Given the description of an element on the screen output the (x, y) to click on. 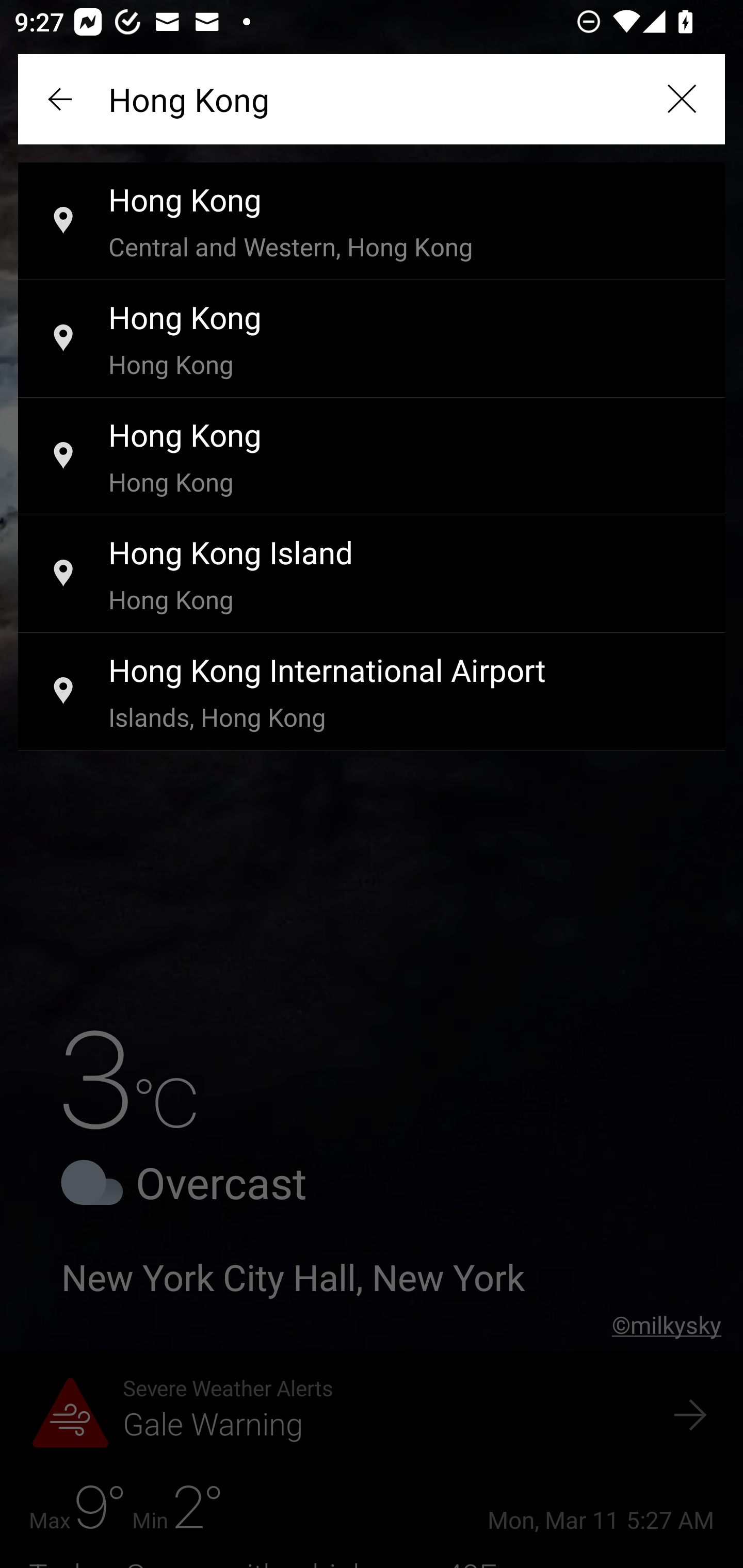
Hong Kong (371, 99)
 (681, 99)
 (61, 99)
 Hong Kong Central and Western, Hong Kong (371, 221)
 Hong Kong Hong Kong (371, 339)
 Hong Kong Hong Kong (371, 456)
 Hong Kong Island Hong Kong (371, 574)
